Given the description of an element on the screen output the (x, y) to click on. 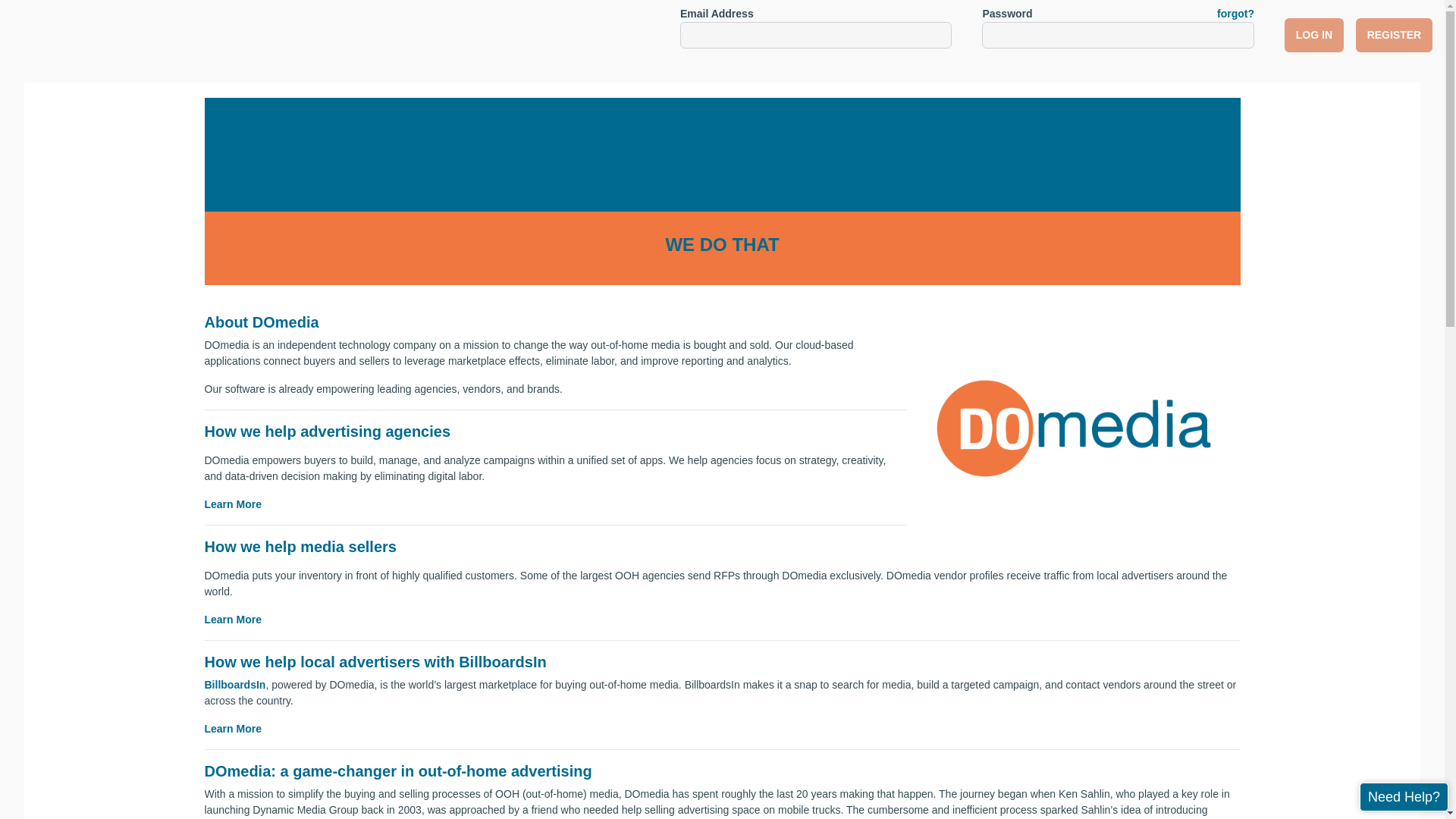
forgot? (1235, 13)
LOG IN (1313, 35)
Learn More (233, 728)
BillboardsIn (235, 684)
Learn More (233, 619)
Learn More (233, 503)
REGISTER (1393, 35)
